Given the description of an element on the screen output the (x, y) to click on. 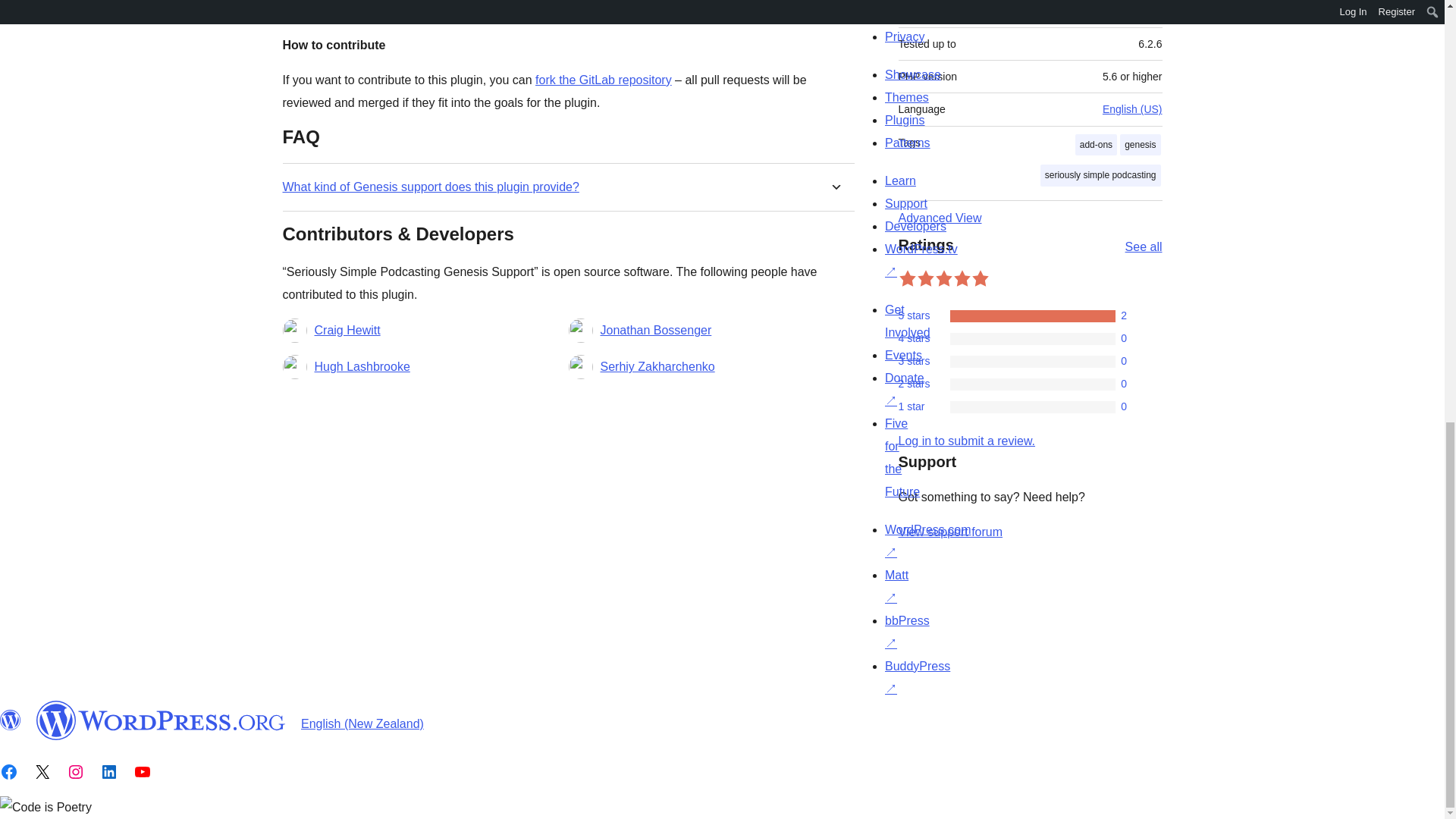
Craig Hewitt (347, 330)
WordPress.org (160, 720)
Log in to WordPress.org (966, 440)
fork the GitLab repository (603, 79)
WordPress.org (10, 720)
